Given the description of an element on the screen output the (x, y) to click on. 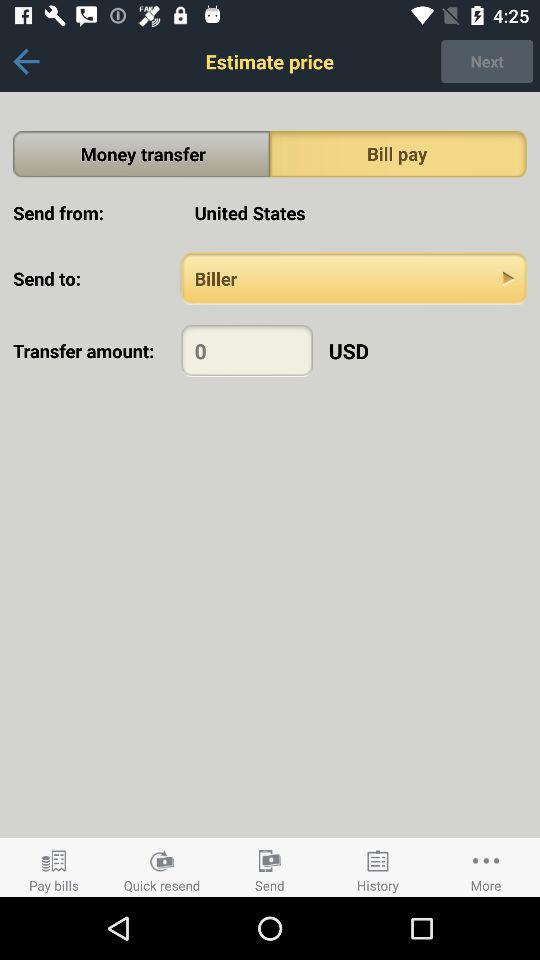
enter amount (246, 350)
